Given the description of an element on the screen output the (x, y) to click on. 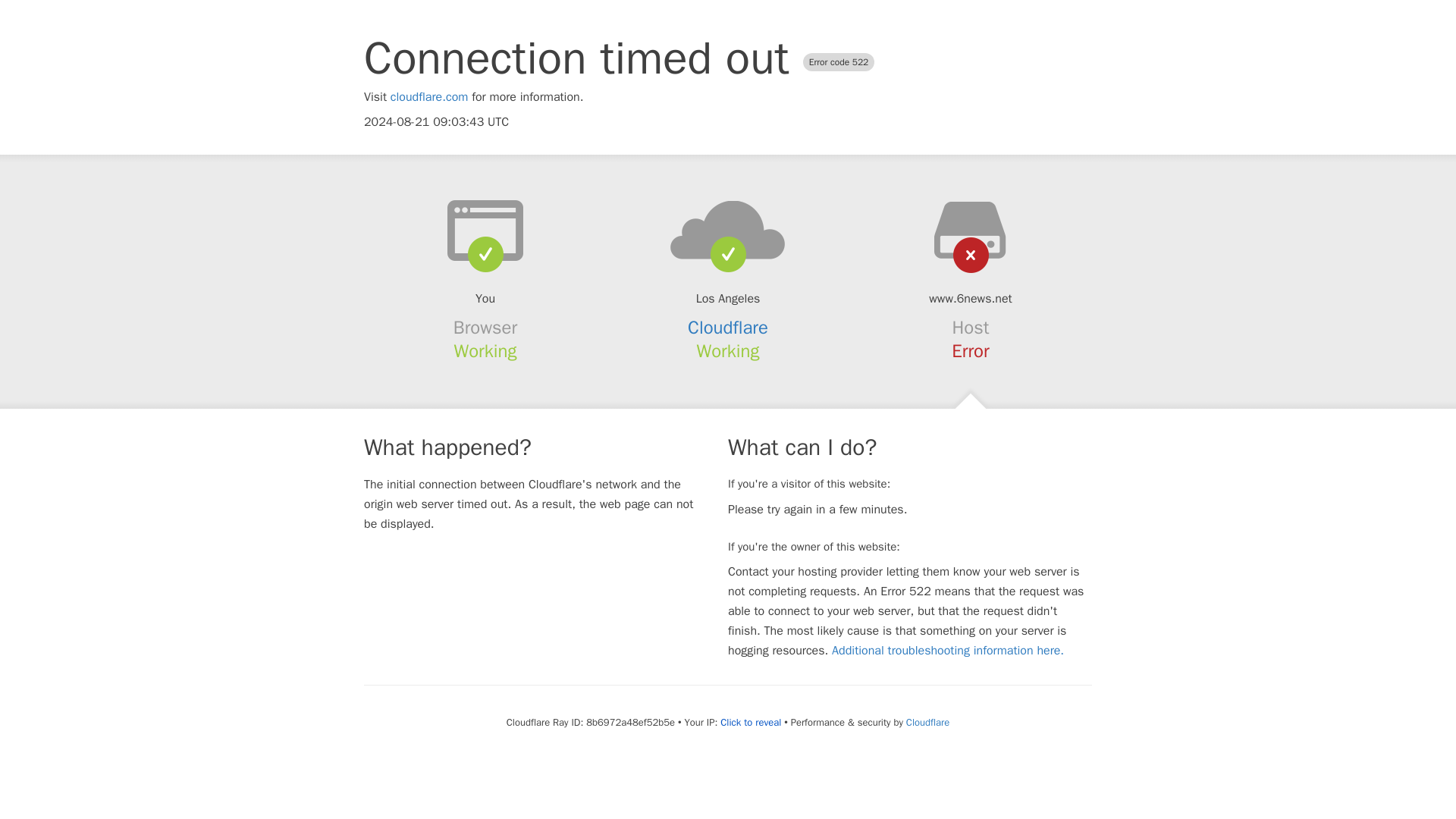
Click to reveal (750, 722)
Cloudflare (727, 327)
Cloudflare (927, 721)
Additional troubleshooting information here. (947, 650)
cloudflare.com (429, 96)
